Given the description of an element on the screen output the (x, y) to click on. 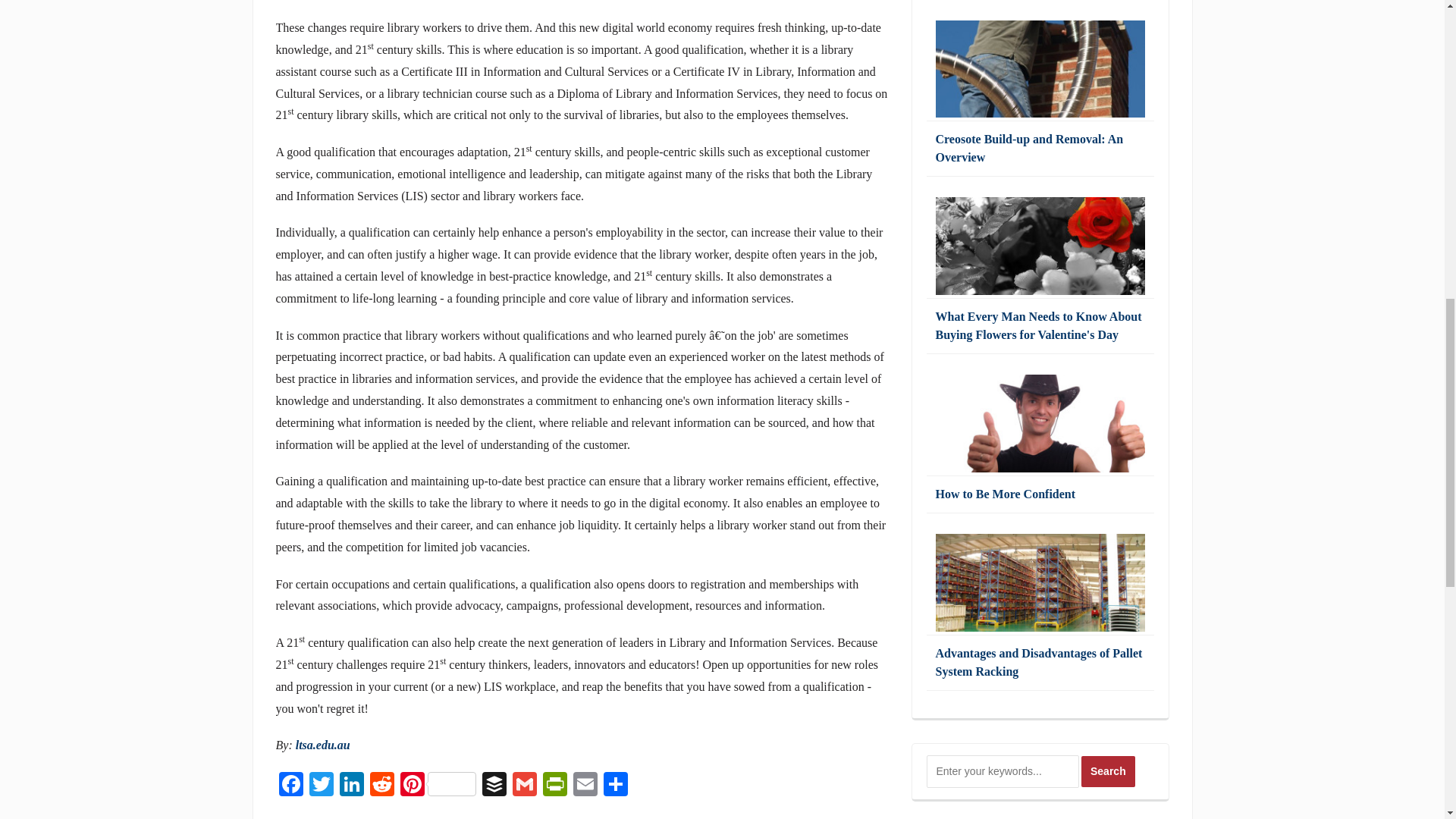
Reddit (381, 786)
Search (1108, 771)
LinkedIn (351, 786)
Facebook (290, 786)
Gmail (524, 786)
Search (1108, 771)
Twitter (320, 786)
Buffer (494, 786)
Pinterest (438, 786)
